Given the description of an element on the screen output the (x, y) to click on. 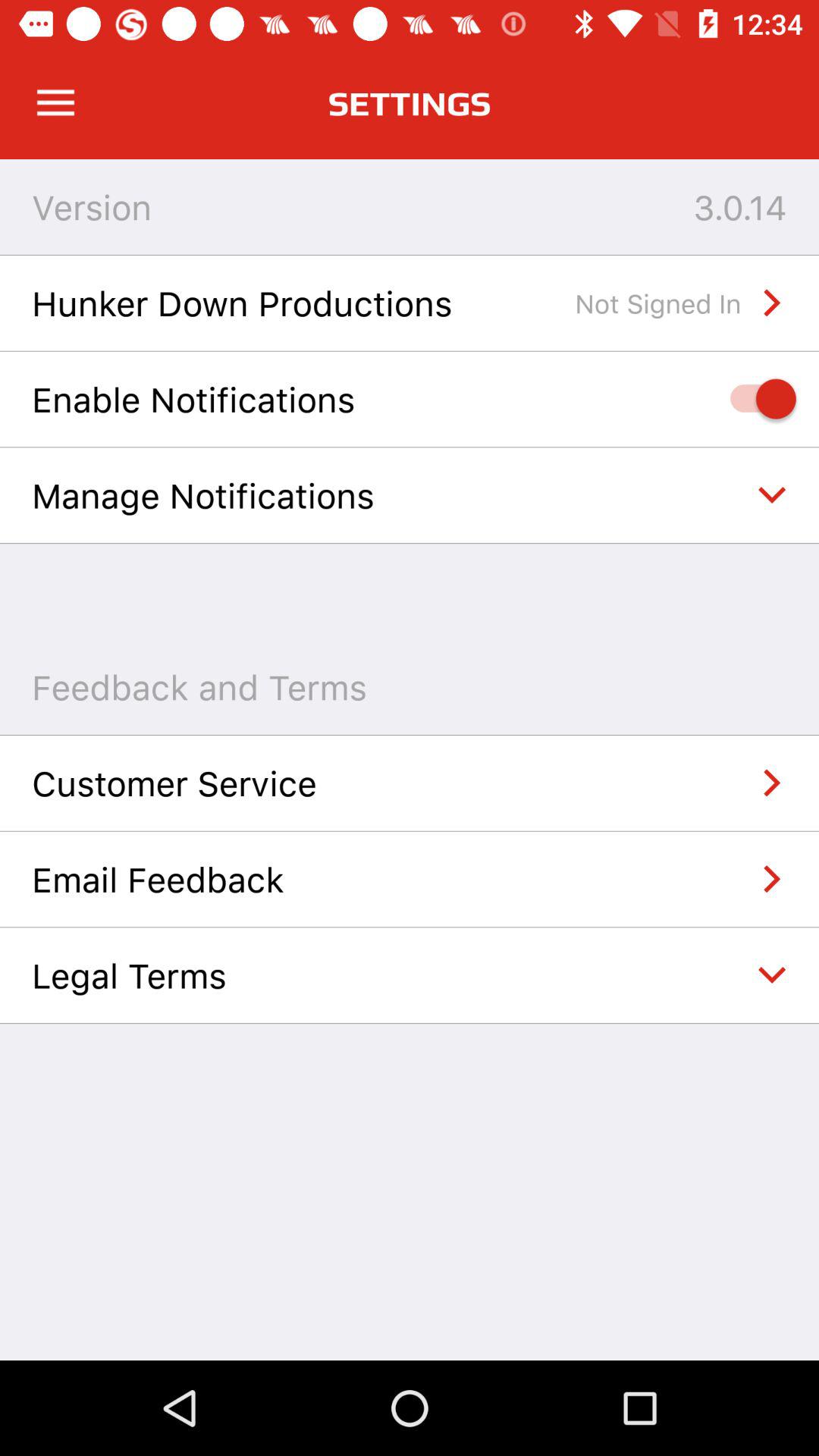
view menu (55, 103)
